Given the description of an element on the screen output the (x, y) to click on. 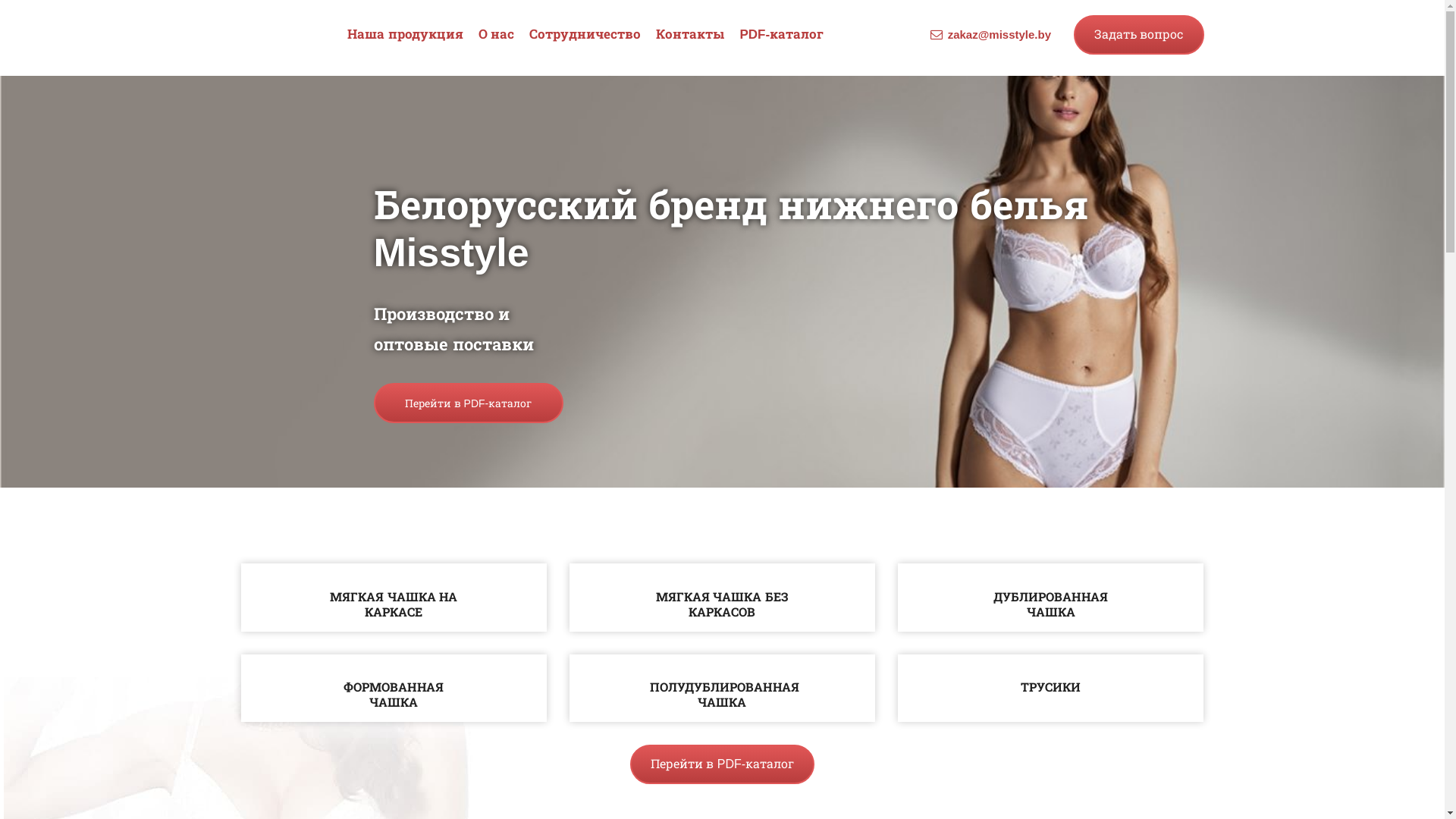
zakaz@misstyle.by Element type: text (999, 34)
